Given the description of an element on the screen output the (x, y) to click on. 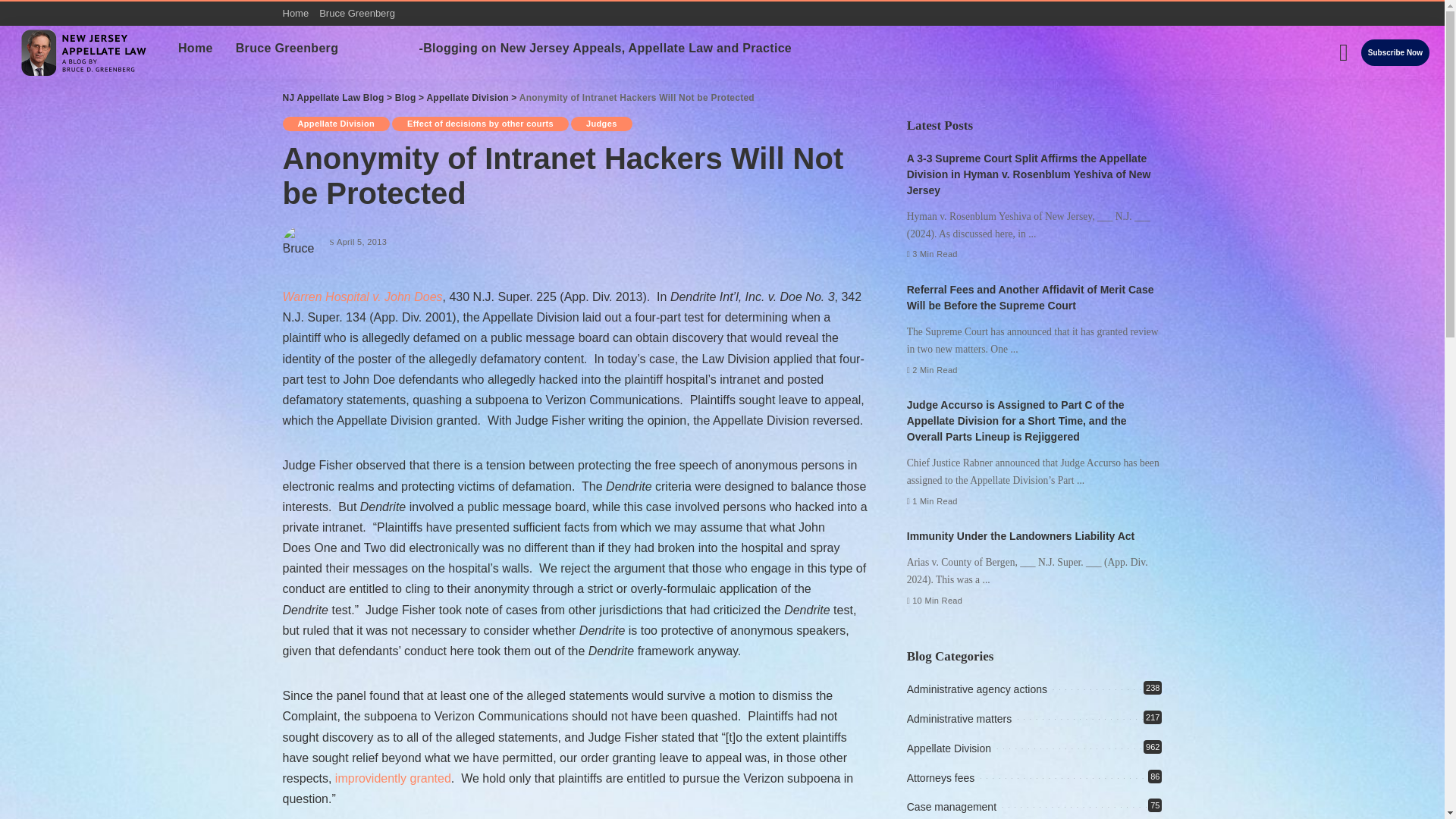
Bruce Greenberg (357, 13)
Search (1408, 98)
Home (195, 48)
Bruce Greenberg (287, 48)
NJ Appellate Law Blog (84, 51)
Subscribe Now (1395, 52)
Home (298, 13)
